Given the description of an element on the screen output the (x, y) to click on. 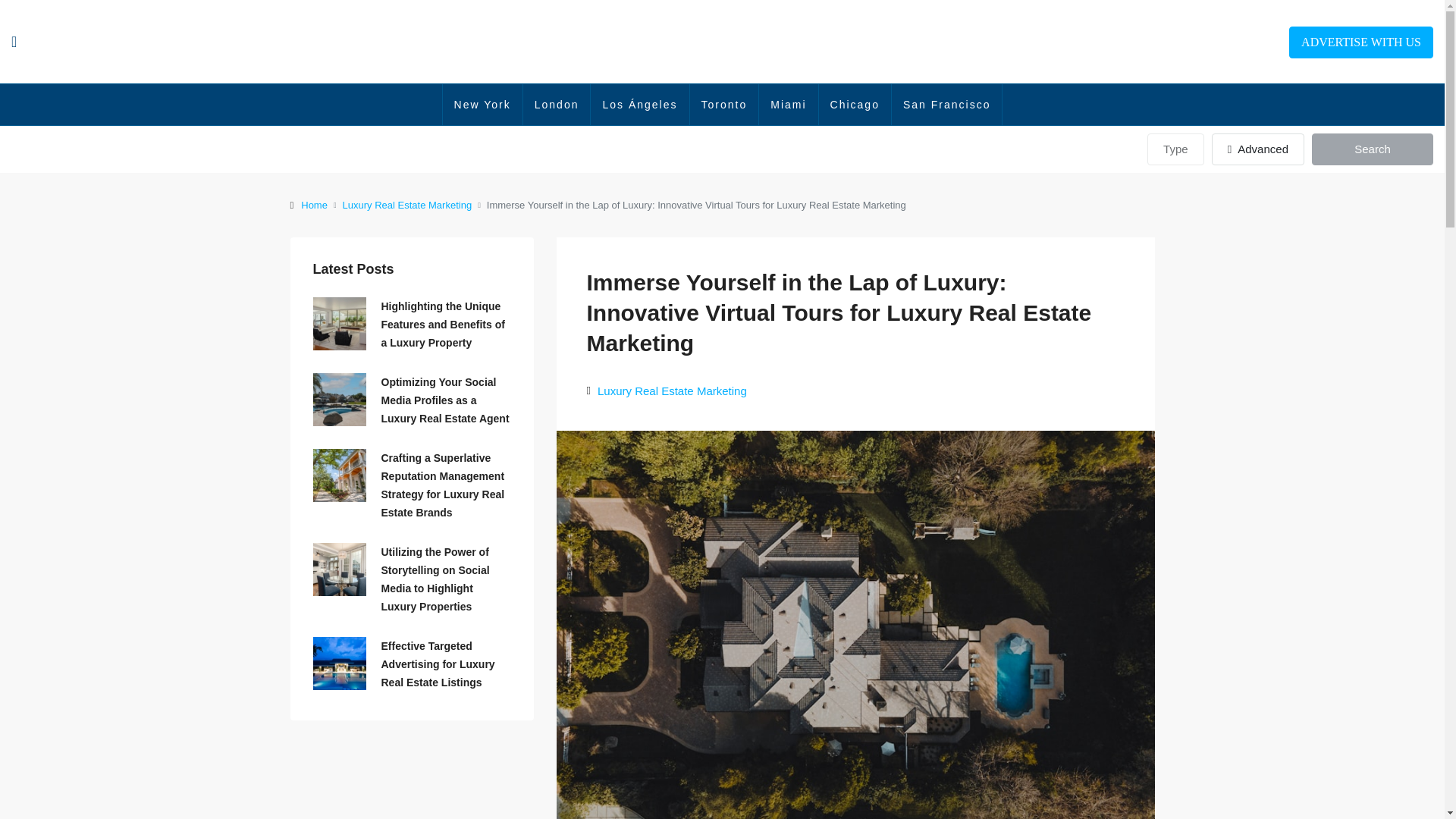
ADVERTISE WITH US (1360, 42)
Luxury Real Estate Marketing (671, 390)
Chicago (854, 104)
Luxury Real Estate Marketing (406, 204)
Type (1175, 149)
Advanced (1257, 149)
San Francisco (946, 104)
Miami (787, 104)
Toronto (724, 104)
Home (314, 204)
